Given the description of an element on the screen output the (x, y) to click on. 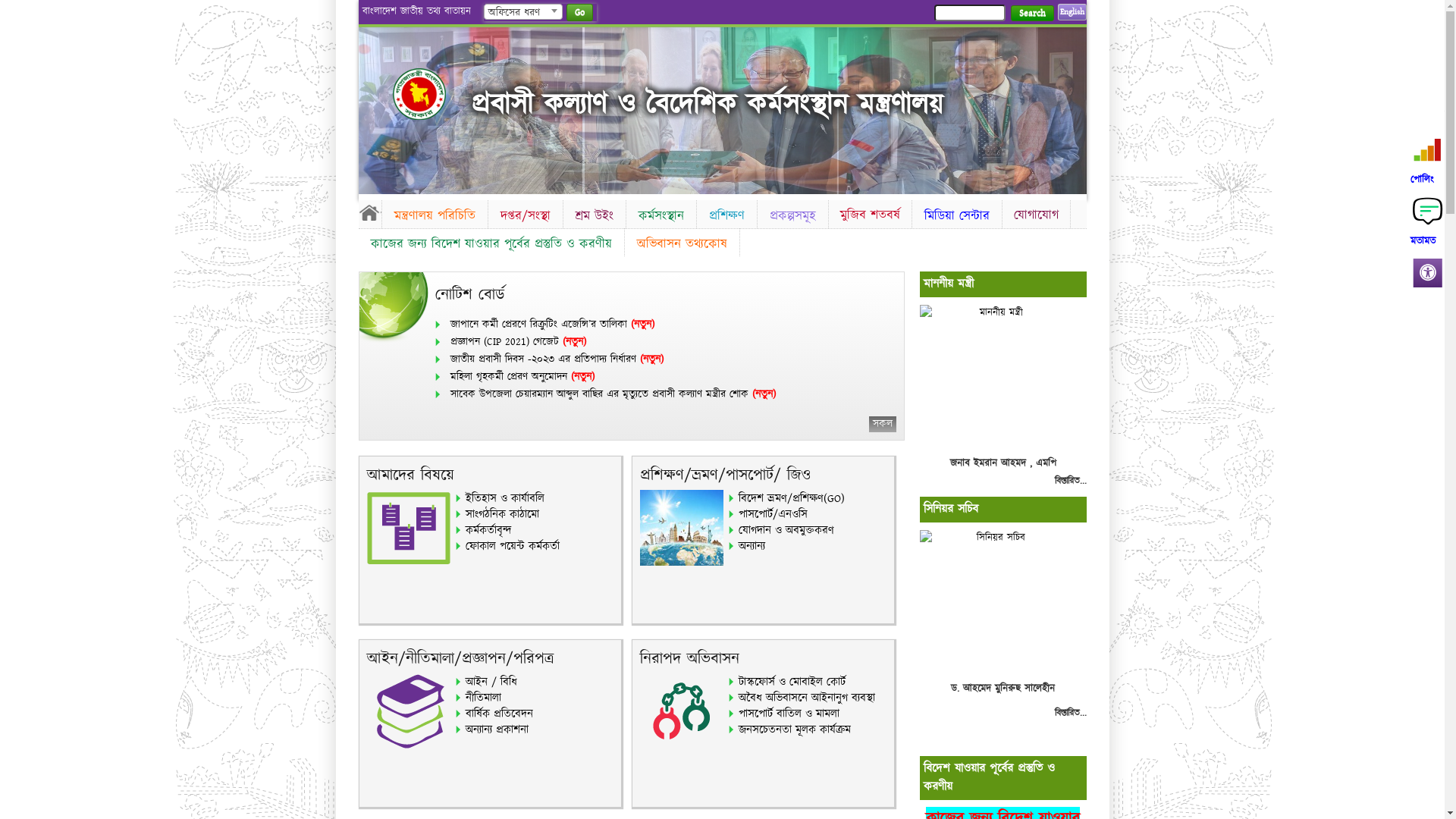
Go Element type: text (578, 12)

					
				 Element type: hover (431, 93)
English Element type: text (1071, 11)
Next Element type: text (1071, 106)
Search Element type: text (1031, 13)
Previous Element type: text (371, 106)
